Given the description of an element on the screen output the (x, y) to click on. 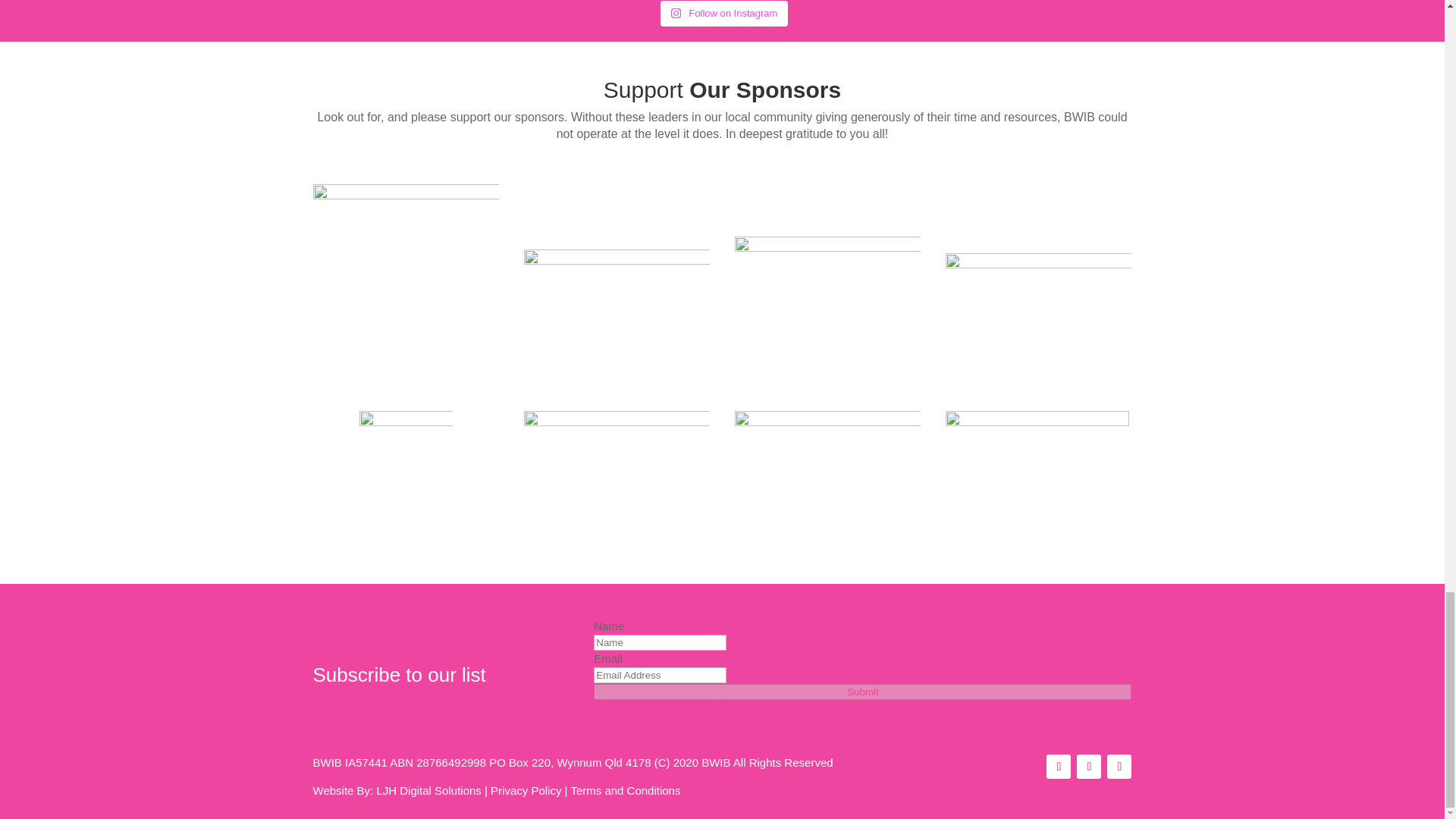
nexia (405, 457)
WYNNUM-MANLY-LEAGUES-CLUB-LOGO-WHITE-LANDSCAPE-FORMAT (617, 276)
logo (406, 277)
9 pillars logo (1036, 467)
southerncross-v2 (828, 276)
Page 34 (722, 125)
Follow on Facebook (1058, 766)
Switch to Success - LOGO - onWhite (1038, 276)
Follow on Instagram (1088, 766)
baycover-logo (617, 434)
